Given the description of an element on the screen output the (x, y) to click on. 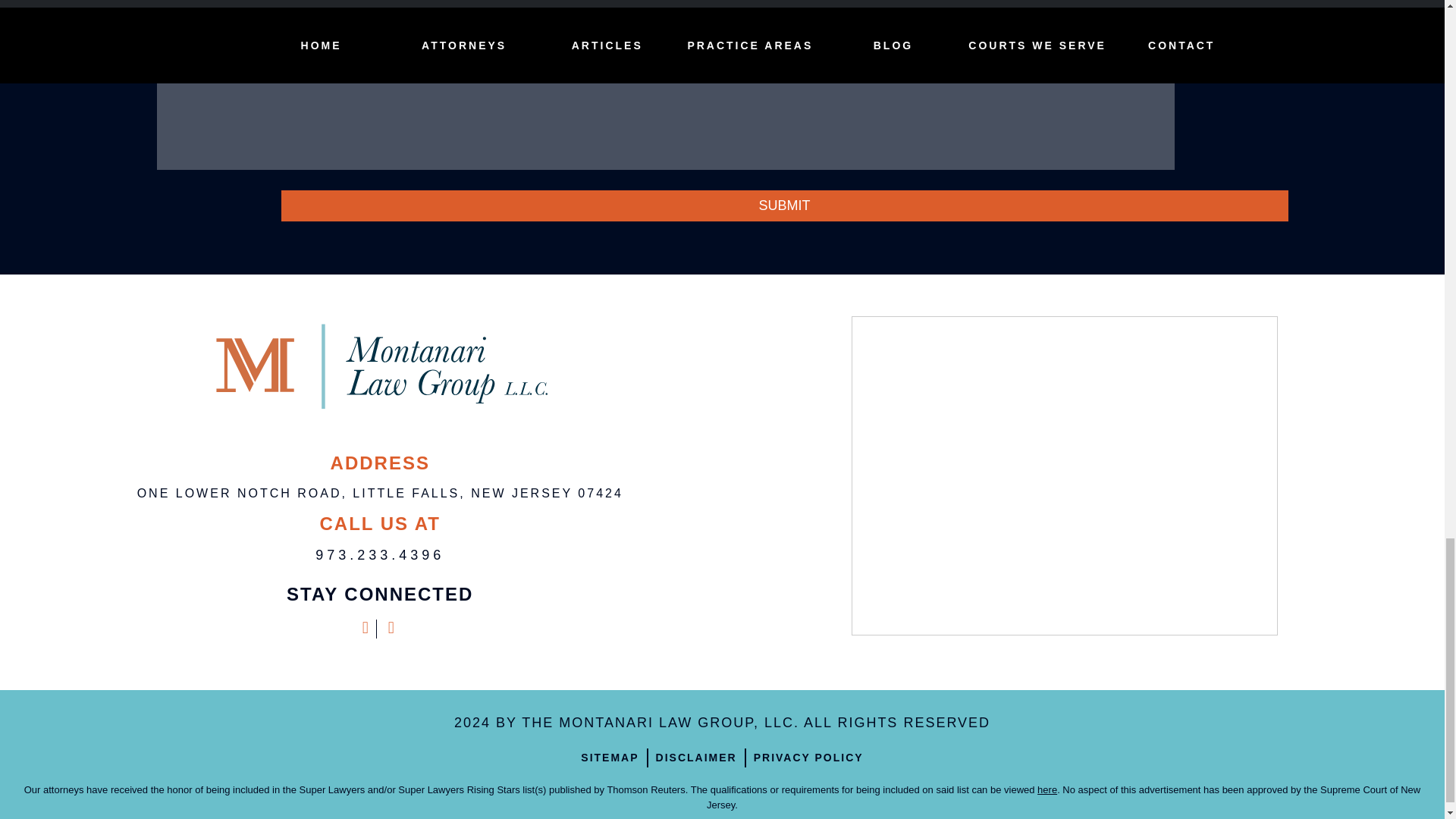
Submit (784, 205)
